Given the description of an element on the screen output the (x, y) to click on. 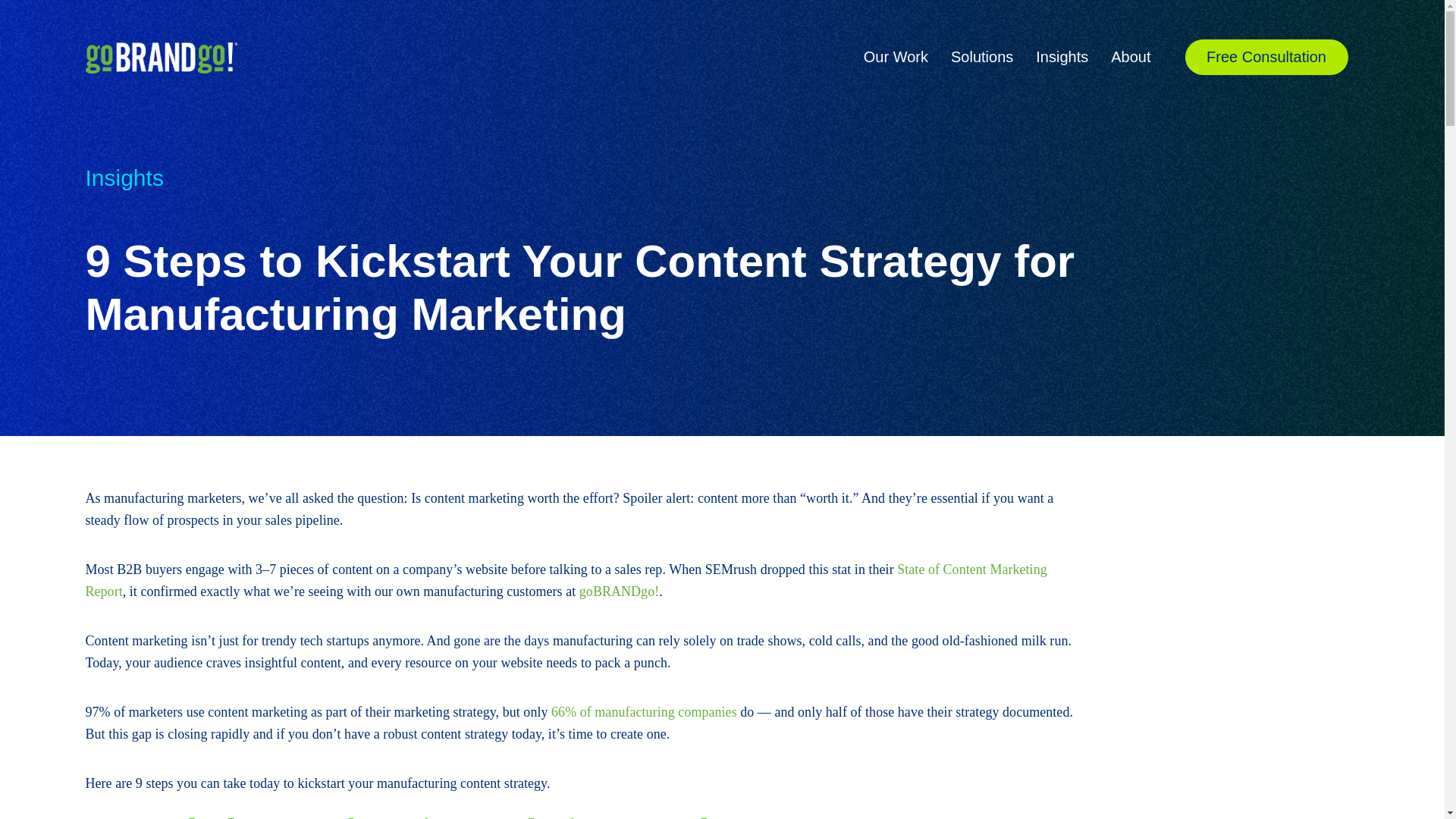
Free Consultation (1266, 56)
State of Content Marketing Report (565, 579)
goBRANDgo! (619, 590)
Insights (1061, 56)
Solutions (981, 56)
Our Work (895, 56)
About (1130, 56)
